Given the description of an element on the screen output the (x, y) to click on. 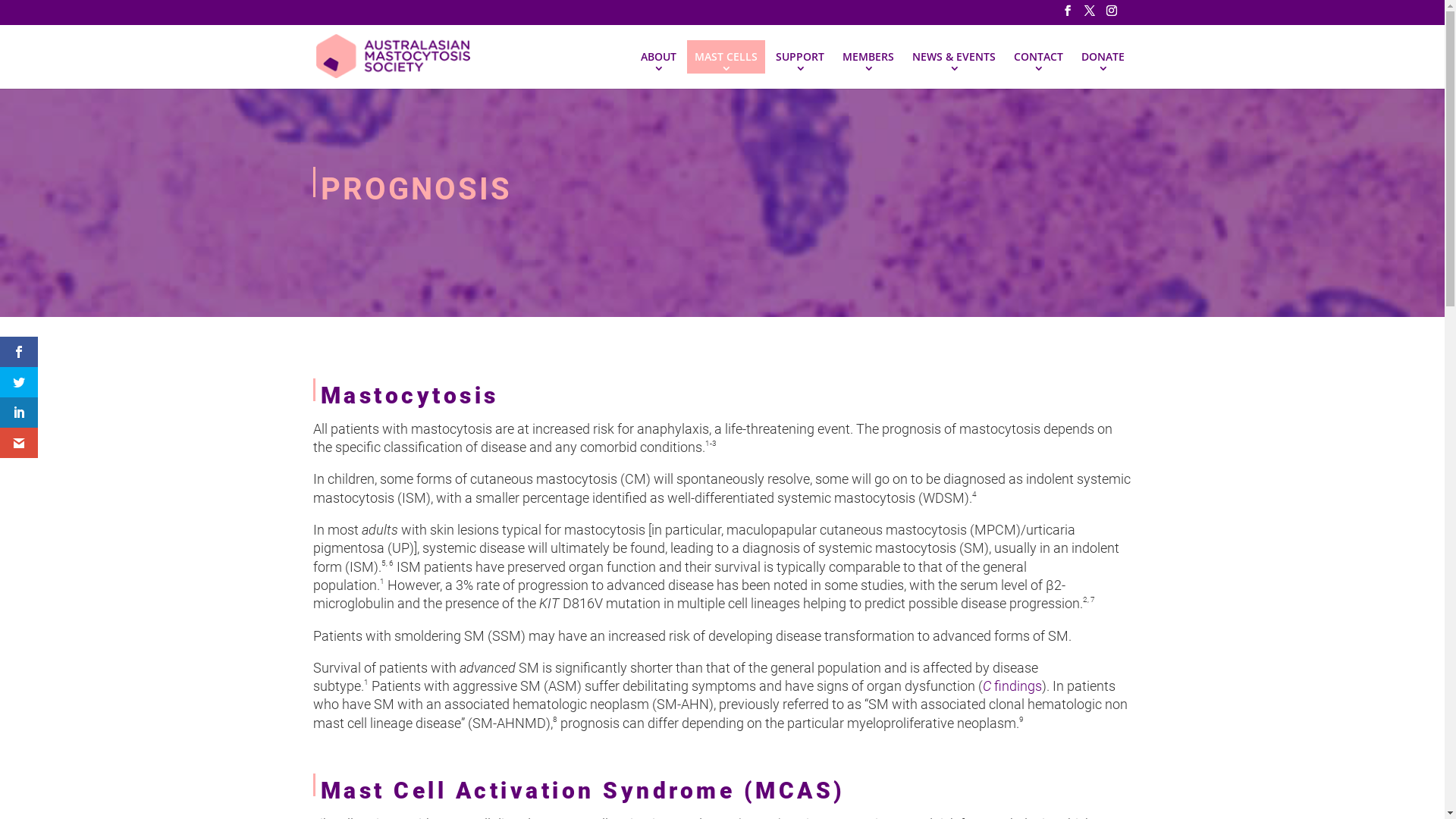
MAST CELLS Element type: text (726, 55)
MEMBERS Element type: text (867, 55)
ABOUT Element type: text (657, 55)
CONTACT Element type: text (1037, 55)
NEWS & EVENTS Element type: text (952, 55)
C findings Element type: text (1011, 685)
DONATE Element type: text (1102, 55)
SUPPORT Element type: text (799, 55)
